Given the description of an element on the screen output the (x, y) to click on. 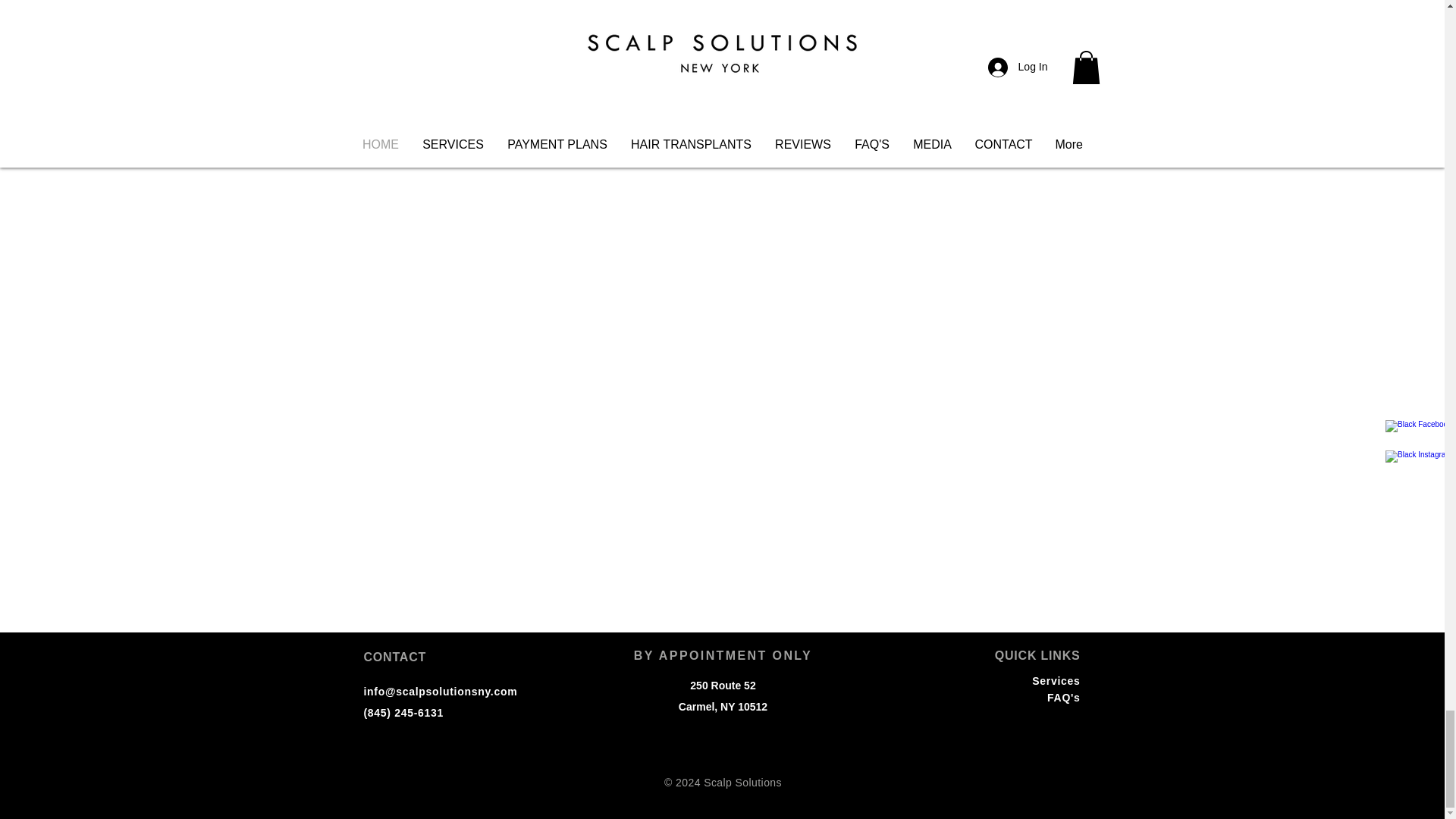
FAQ's (1063, 697)
Services (1056, 680)
CONTACT (395, 656)
